Given the description of an element on the screen output the (x, y) to click on. 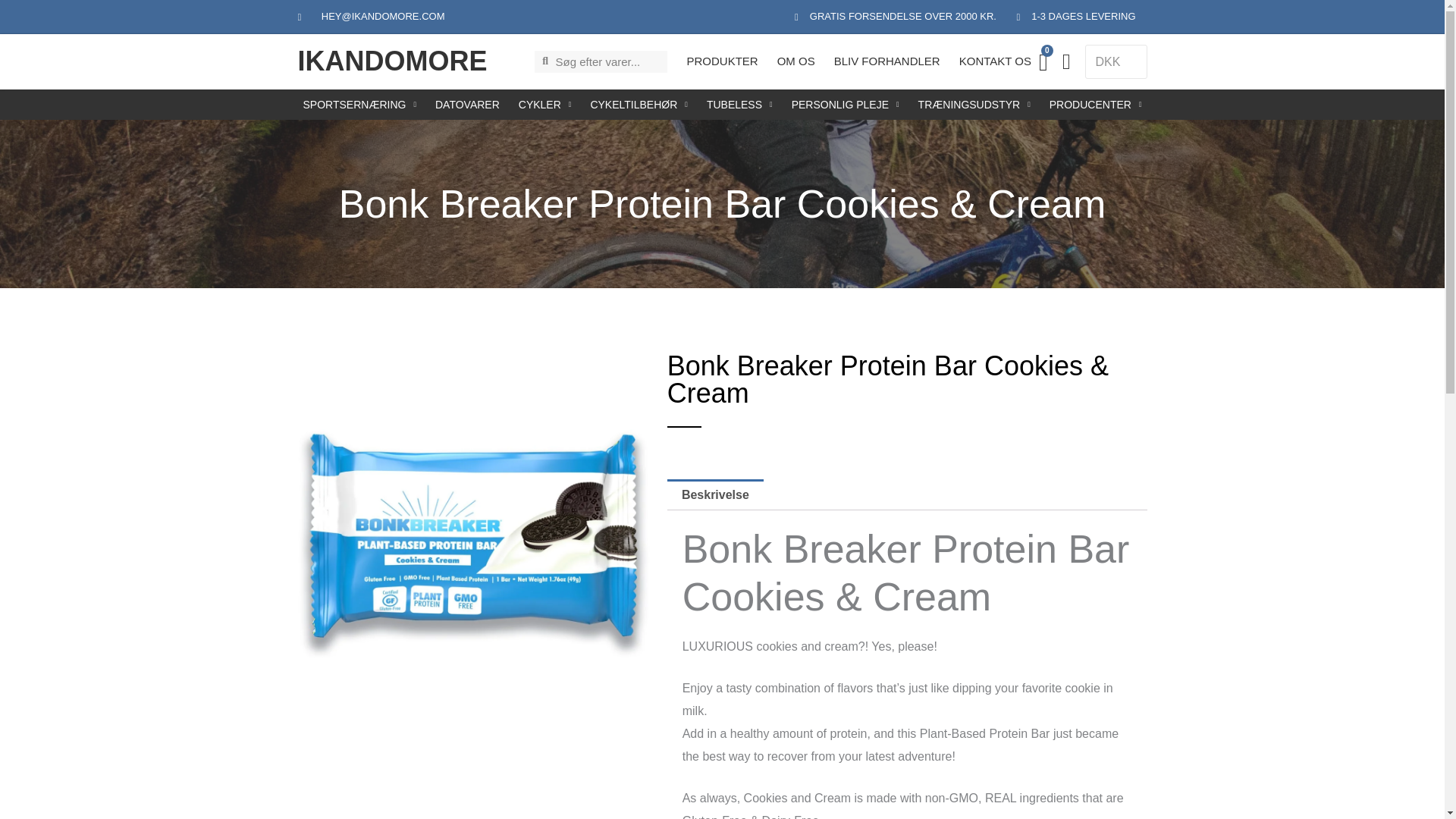
KONTAKT OS (994, 60)
PRODUKTER (721, 60)
BLIV FORHANDLER (887, 60)
OM OS (796, 60)
IKANDOMORE (391, 60)
